Given the description of an element on the screen output the (x, y) to click on. 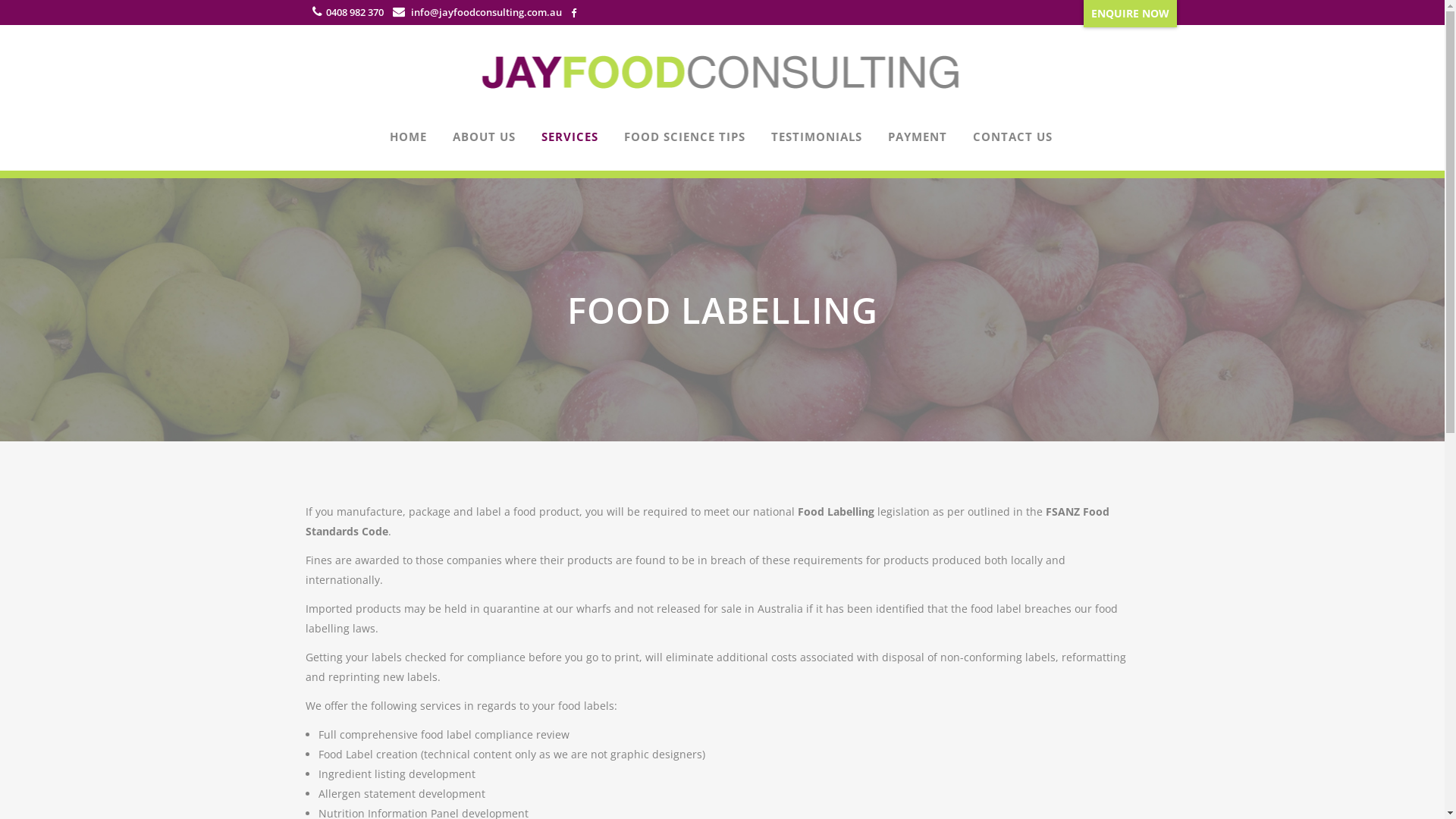
FSANZ Food Standards Code Element type: text (706, 521)
CONTACT US Element type: text (1012, 136)
info@jayfoodconsulting.com.au Element type: text (484, 11)
TESTIMONIALS Element type: text (816, 136)
HOME Element type: text (407, 136)
FOOD SCIENCE TIPS Element type: text (684, 136)
ABOUT US Element type: text (483, 136)
SERVICES Element type: text (568, 136)
PAYMENT Element type: text (917, 136)
0408 982 370 Element type: text (354, 11)
